Given the description of an element on the screen output the (x, y) to click on. 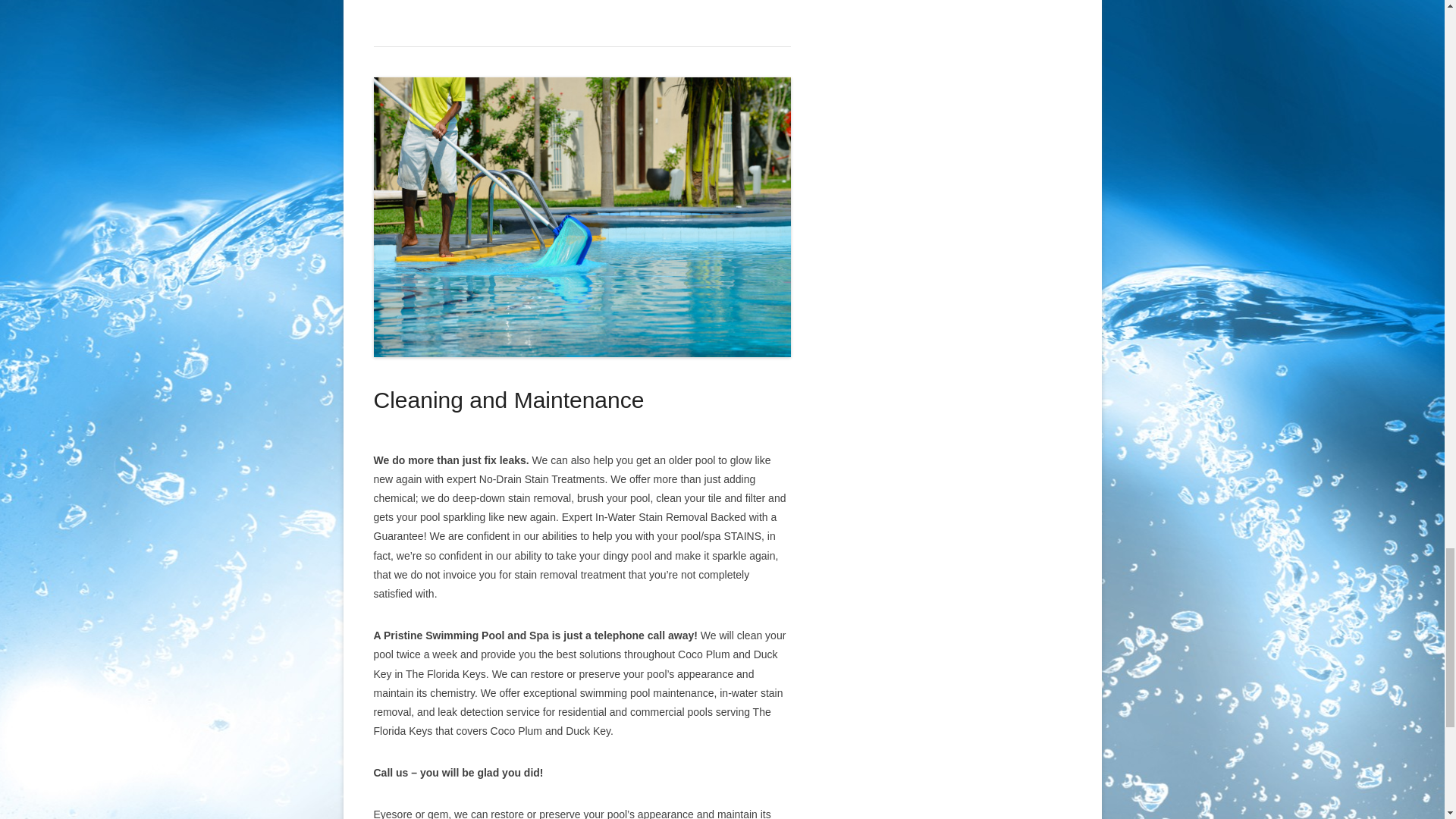
Cleaning and Maintenance (507, 399)
Permalink to Cleaning and Maintenance (581, 216)
